Given the description of an element on the screen output the (x, y) to click on. 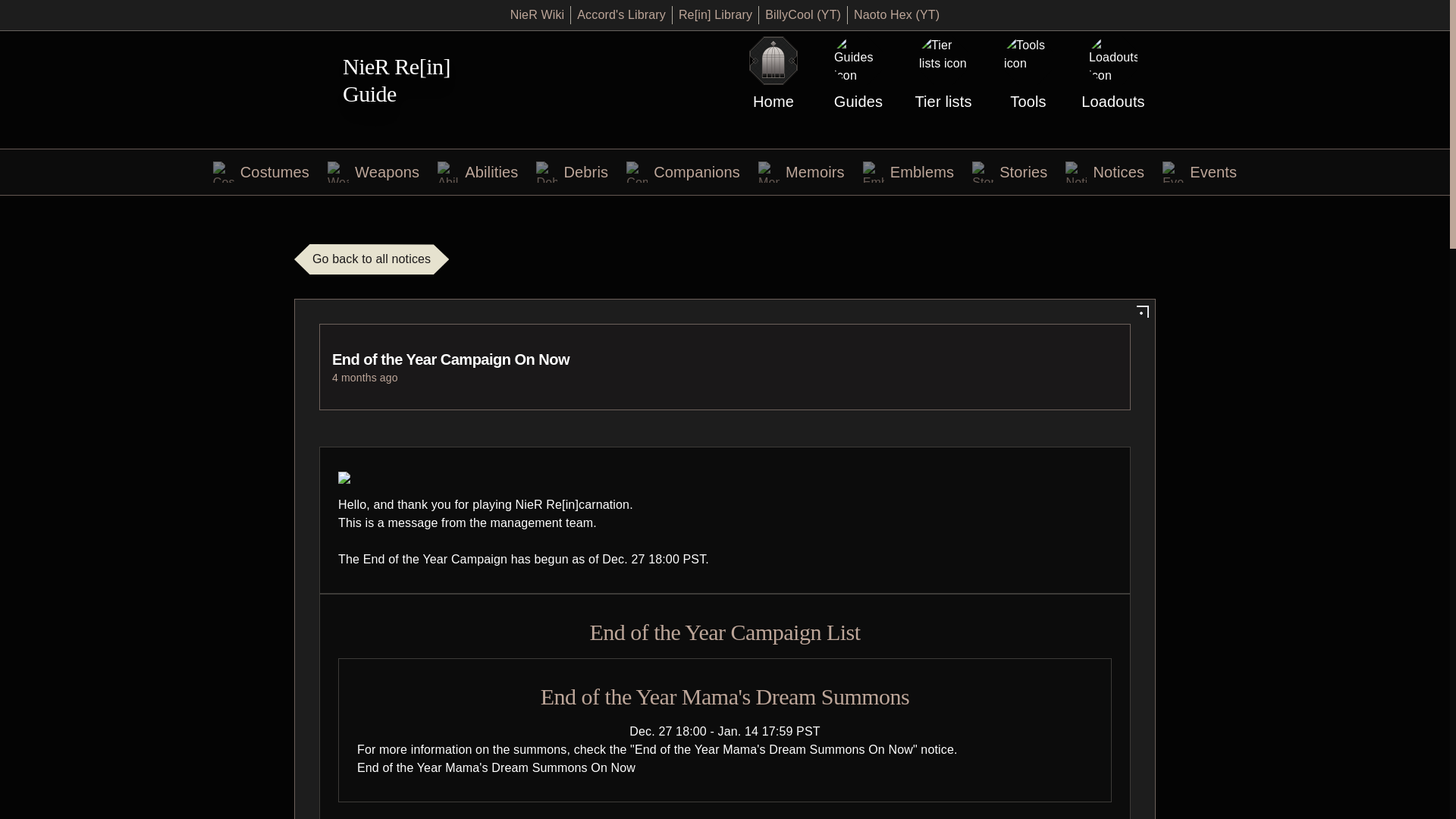
Emblems (908, 171)
Companions (682, 171)
Memoirs (801, 171)
Abilities (478, 171)
Debris (571, 171)
Weapons (373, 171)
Costumes (260, 171)
Accord's Library (620, 14)
Guides (858, 74)
Home (772, 74)
Notices (1104, 171)
Go back to all notices (371, 259)
Loadouts (1113, 74)
Events (1198, 171)
NieR Wiki (536, 14)
